Given the description of an element on the screen output the (x, y) to click on. 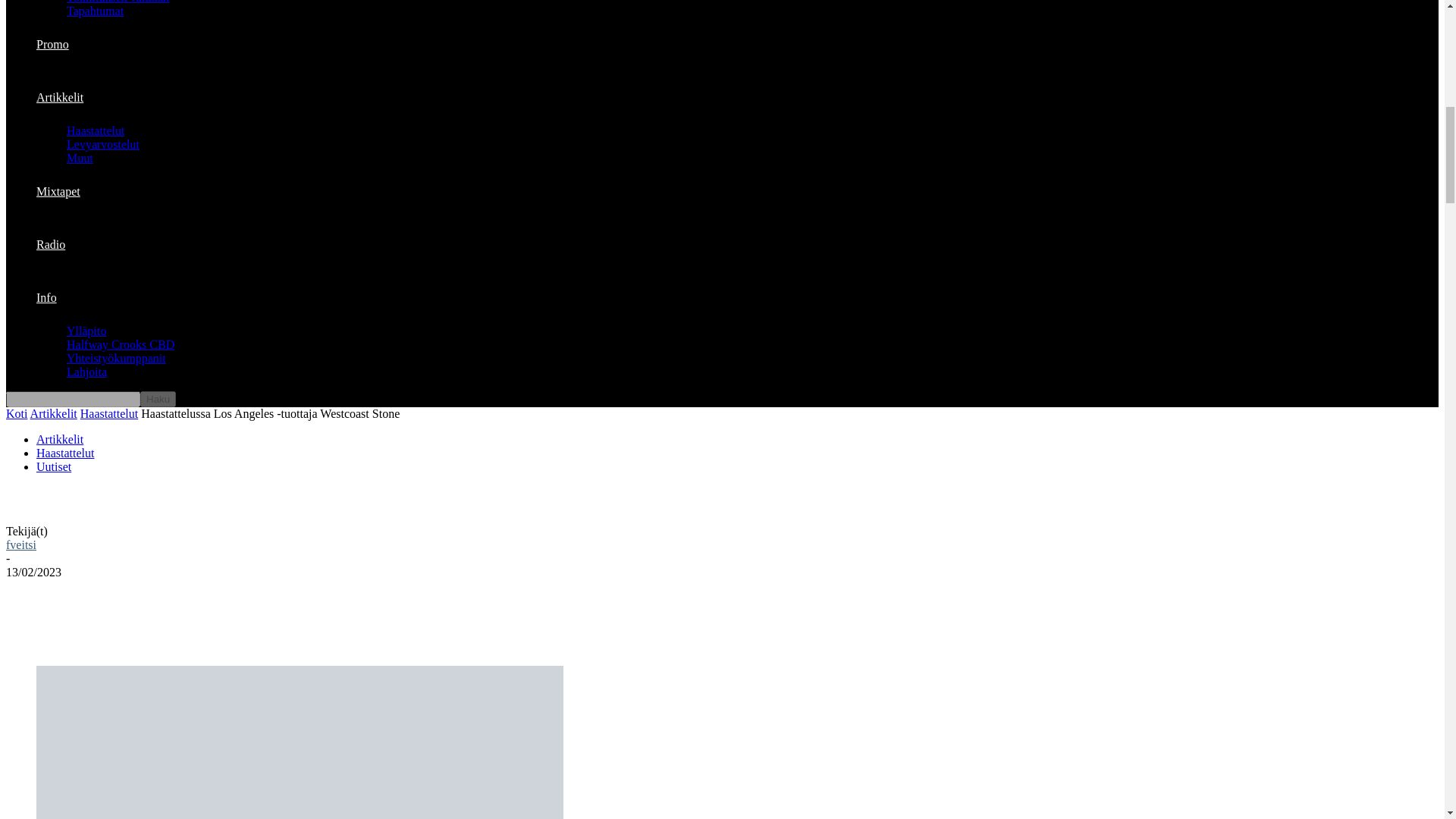
Promo (52, 43)
Artikkelit (59, 97)
Haku (157, 399)
Katso kaikki viestit Artikkelit (53, 413)
Tapahtumat (94, 10)
Levyarvostelut (102, 144)
Katso kaikki viestit Haastattelut (109, 413)
Toimituksen valinnat (117, 2)
Haastattelut (94, 130)
